Given the description of an element on the screen output the (x, y) to click on. 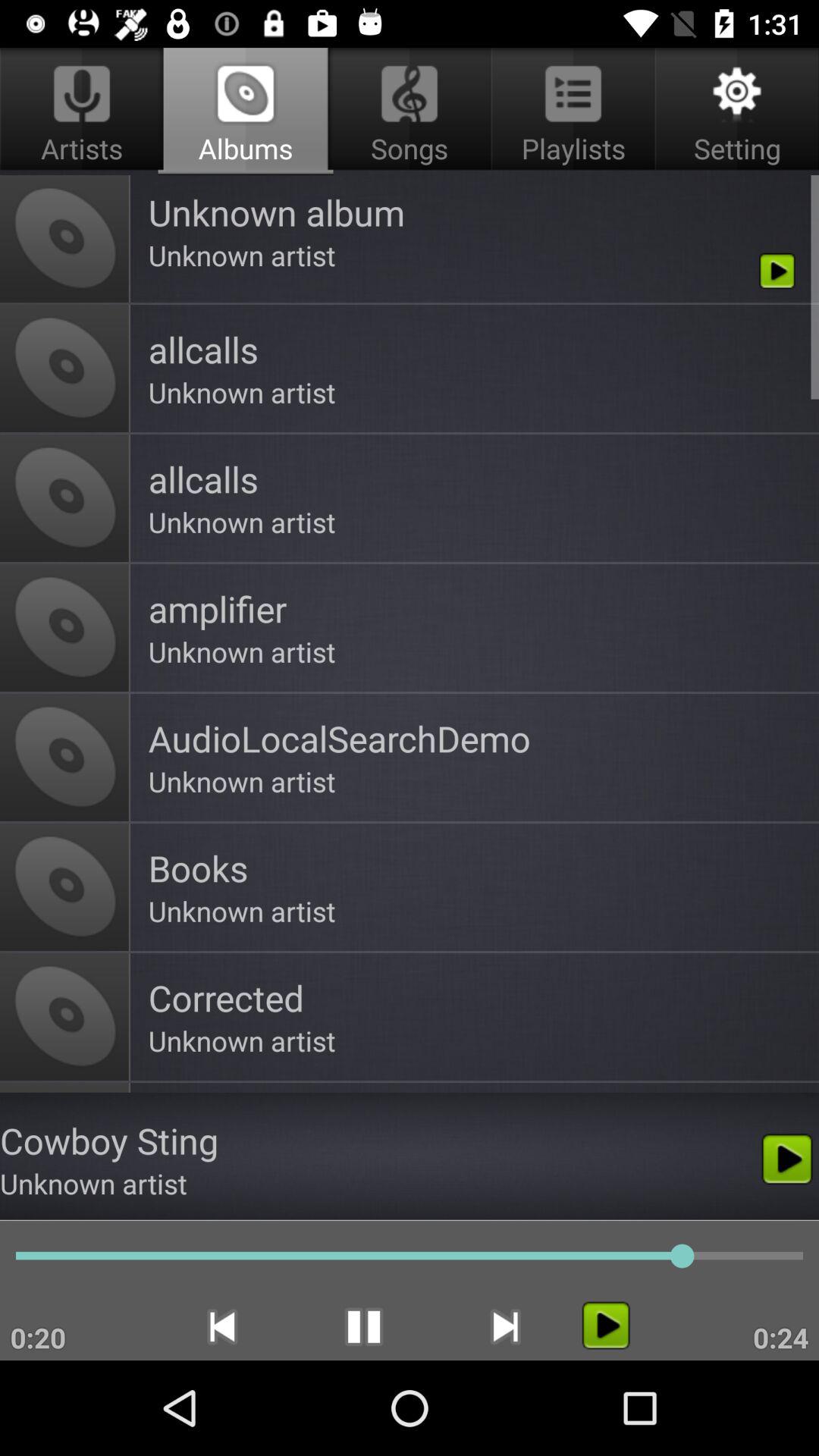
scroll until the songs item (409, 111)
